Given the description of an element on the screen output the (x, y) to click on. 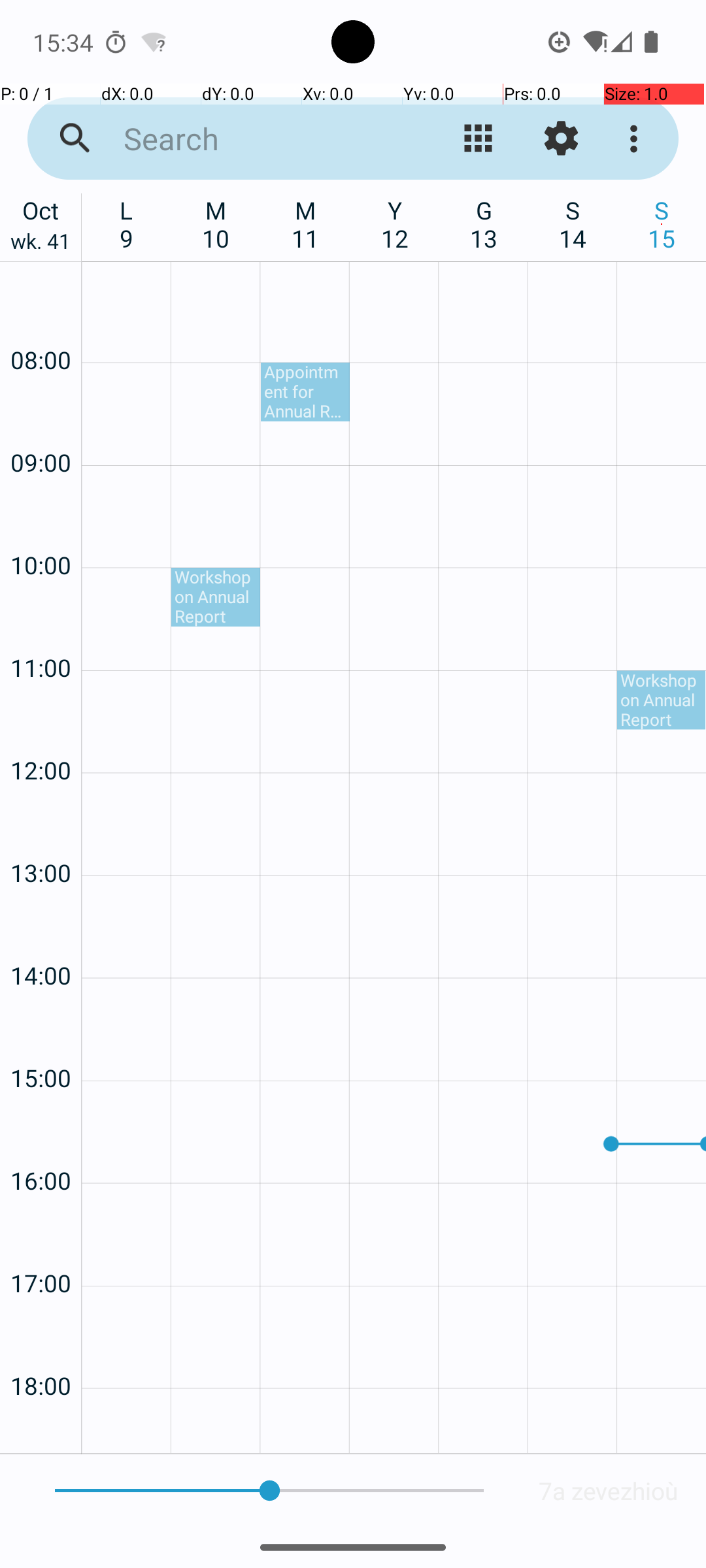
Kemmañ ar gwel Element type: android.widget.Button (477, 138)
7a zevezhioù Element type: android.widget.TextView (608, 1490)
L
9 Element type: android.widget.TextView (126, 223)
M
10 Element type: android.widget.TextView (215, 223)
M
11 Element type: android.widget.TextView (305, 223)
Y
12 Element type: android.widget.TextView (394, 223)
G
13 Element type: android.widget.TextView (483, 223)
